Given the description of an element on the screen output the (x, y) to click on. 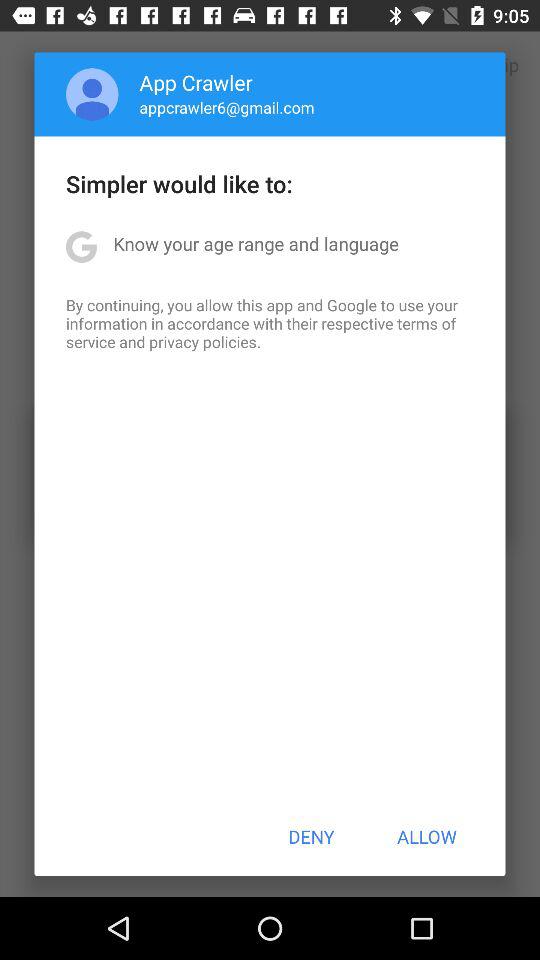
select app above by continuing you app (255, 243)
